Given the description of an element on the screen output the (x, y) to click on. 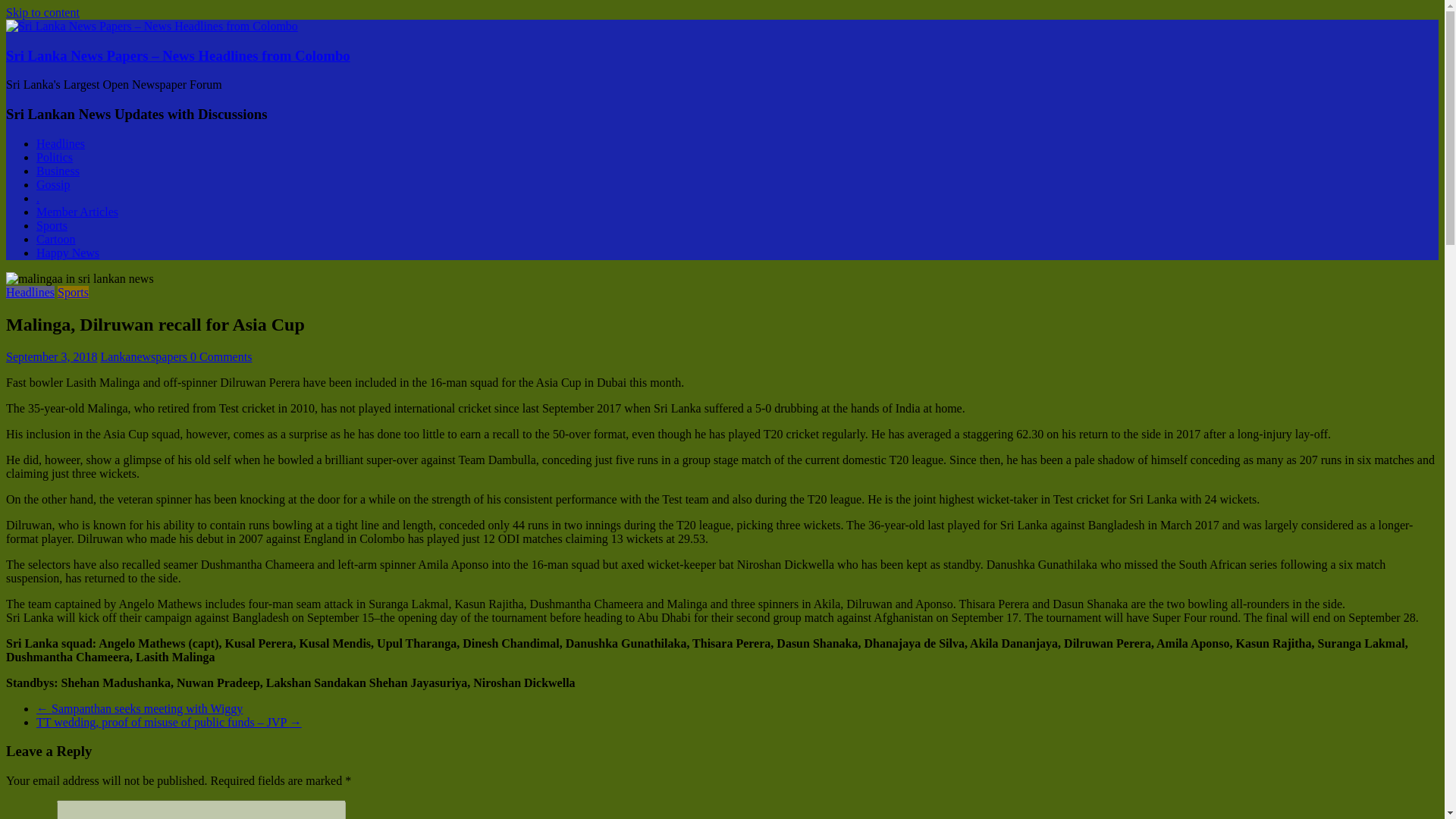
Headlines (30, 291)
0 Comments (220, 356)
Lankanewspapers (145, 356)
Headlines (60, 143)
Sports (73, 291)
2:47 am (51, 356)
Skip to content (42, 11)
Happy News (67, 252)
Gossip (52, 184)
Politics (54, 156)
Member Articles (76, 211)
Malinga, Dilruwan recall for Asia Cup 1 - In Sri Lanka (79, 278)
Lankanewspapers (145, 356)
Cartoon (55, 238)
Business (58, 170)
